Given the description of an element on the screen output the (x, y) to click on. 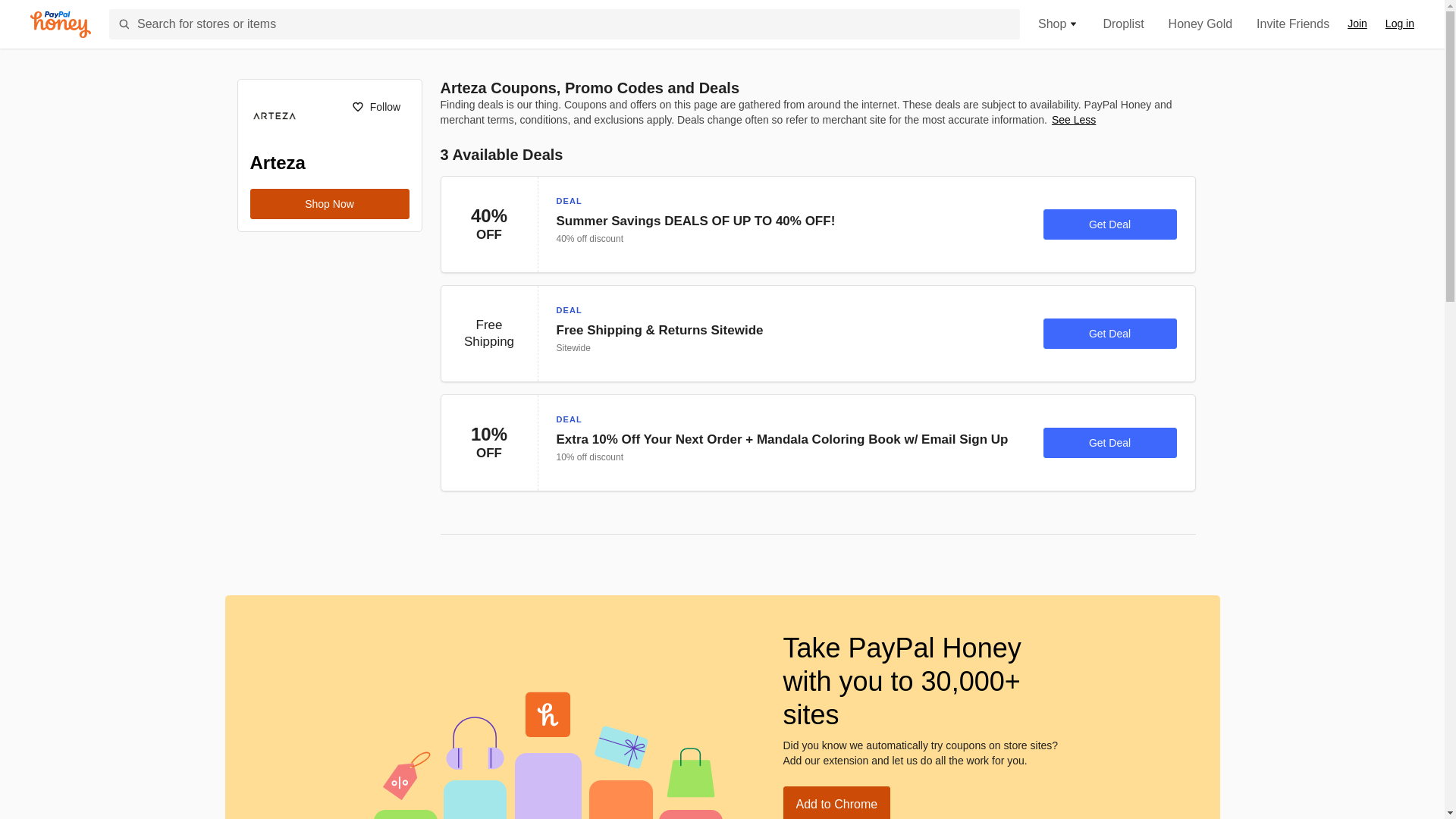
Invite Friends (1292, 24)
See Less (1073, 119)
Get Deal (1109, 333)
Get Deal (1109, 224)
Honey Gold (1201, 24)
Shop Now (329, 204)
Follow (375, 106)
Droplist (1122, 24)
Add to Chrome (836, 802)
Get Deal (1109, 442)
